Given the description of an element on the screen output the (x, y) to click on. 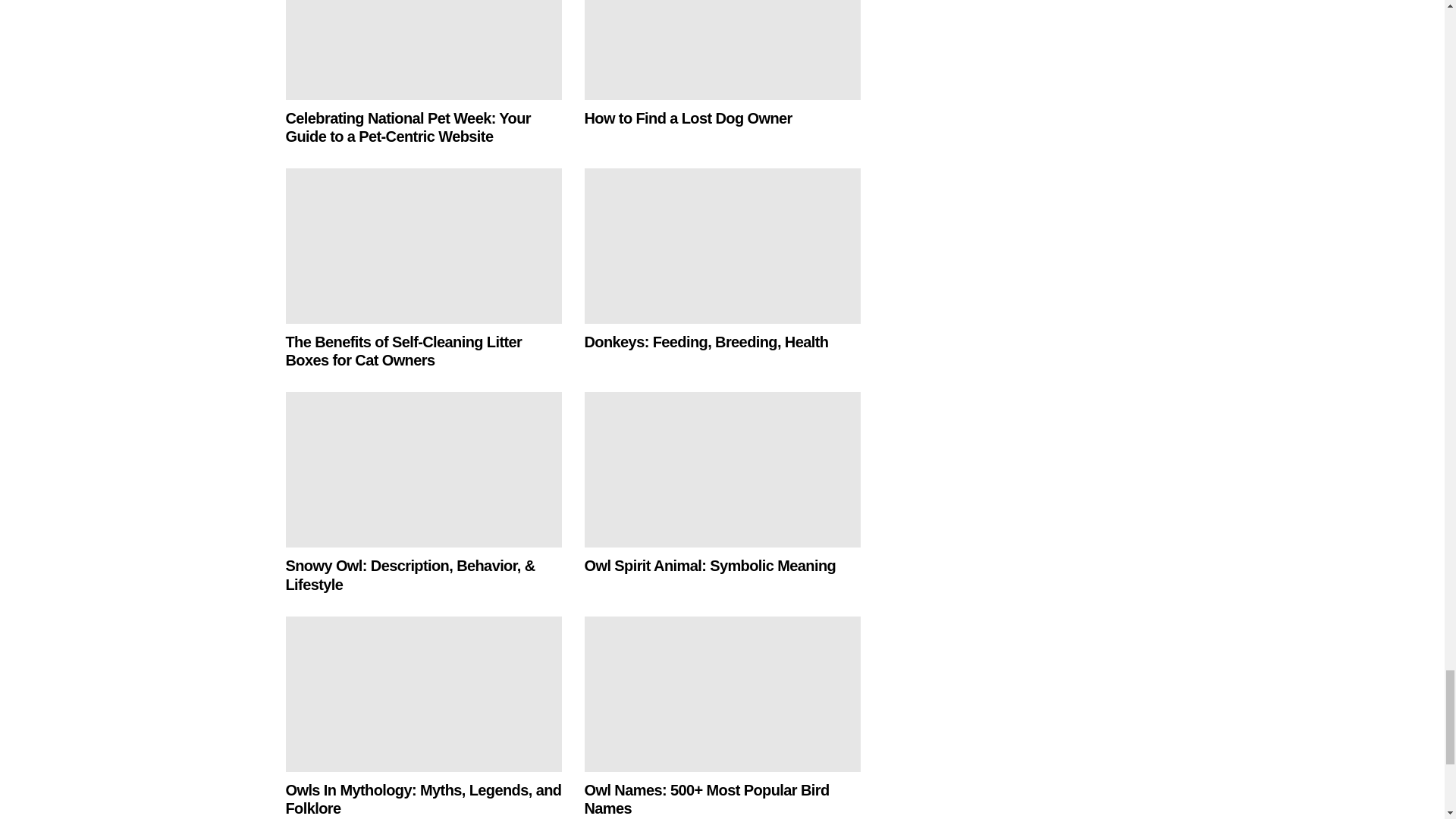
The Benefits of Self-Cleaning Litter Boxes for Cat Owners (422, 245)
How to Find a Lost Dog Owner (721, 49)
Donkeys: Feeding, Breeding, Health (721, 245)
